Given the description of an element on the screen output the (x, y) to click on. 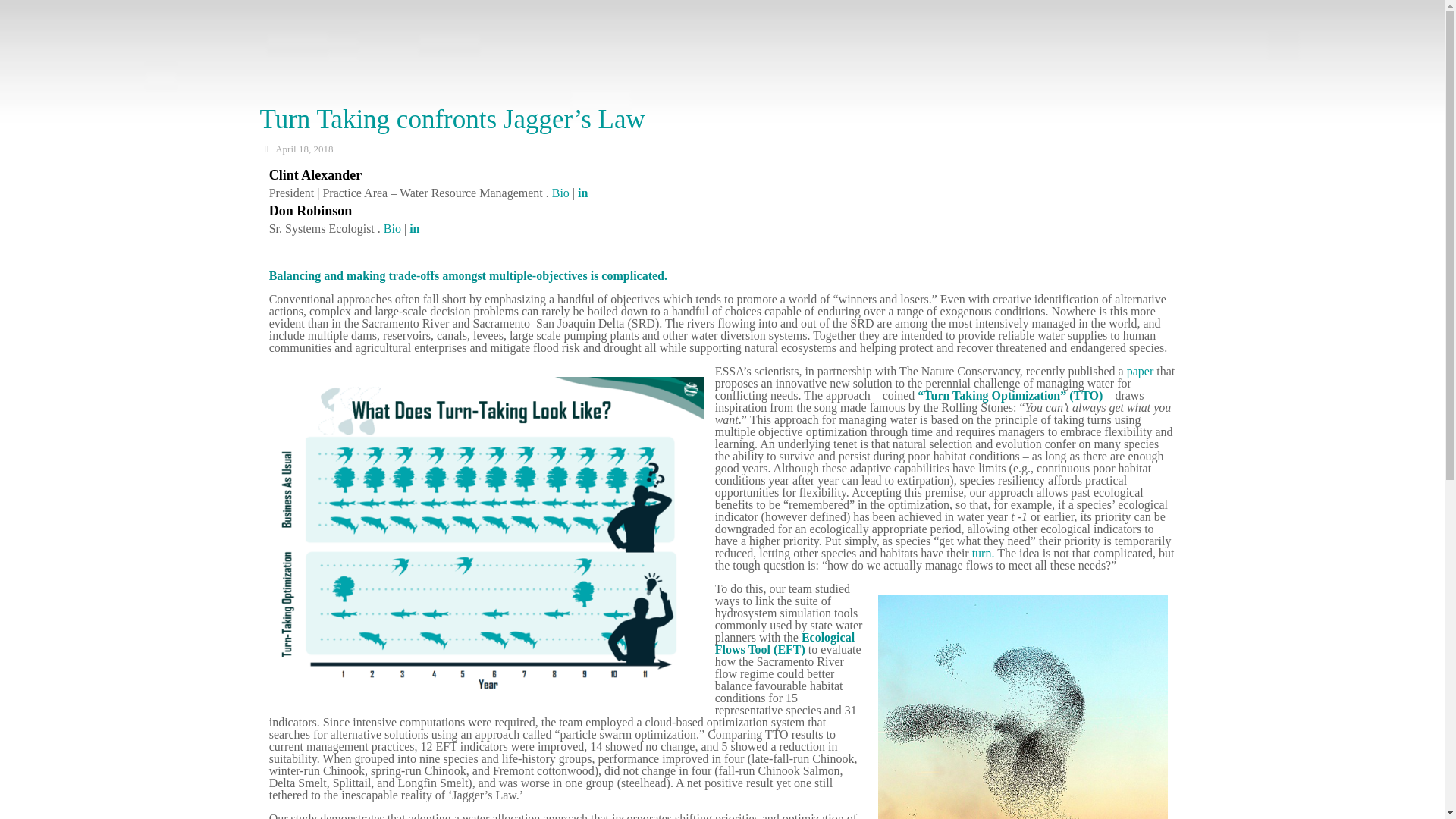
paper (1140, 370)
Bio (392, 228)
EFT (788, 649)
turn. (983, 553)
Bio (560, 192)
